Given the description of an element on the screen output the (x, y) to click on. 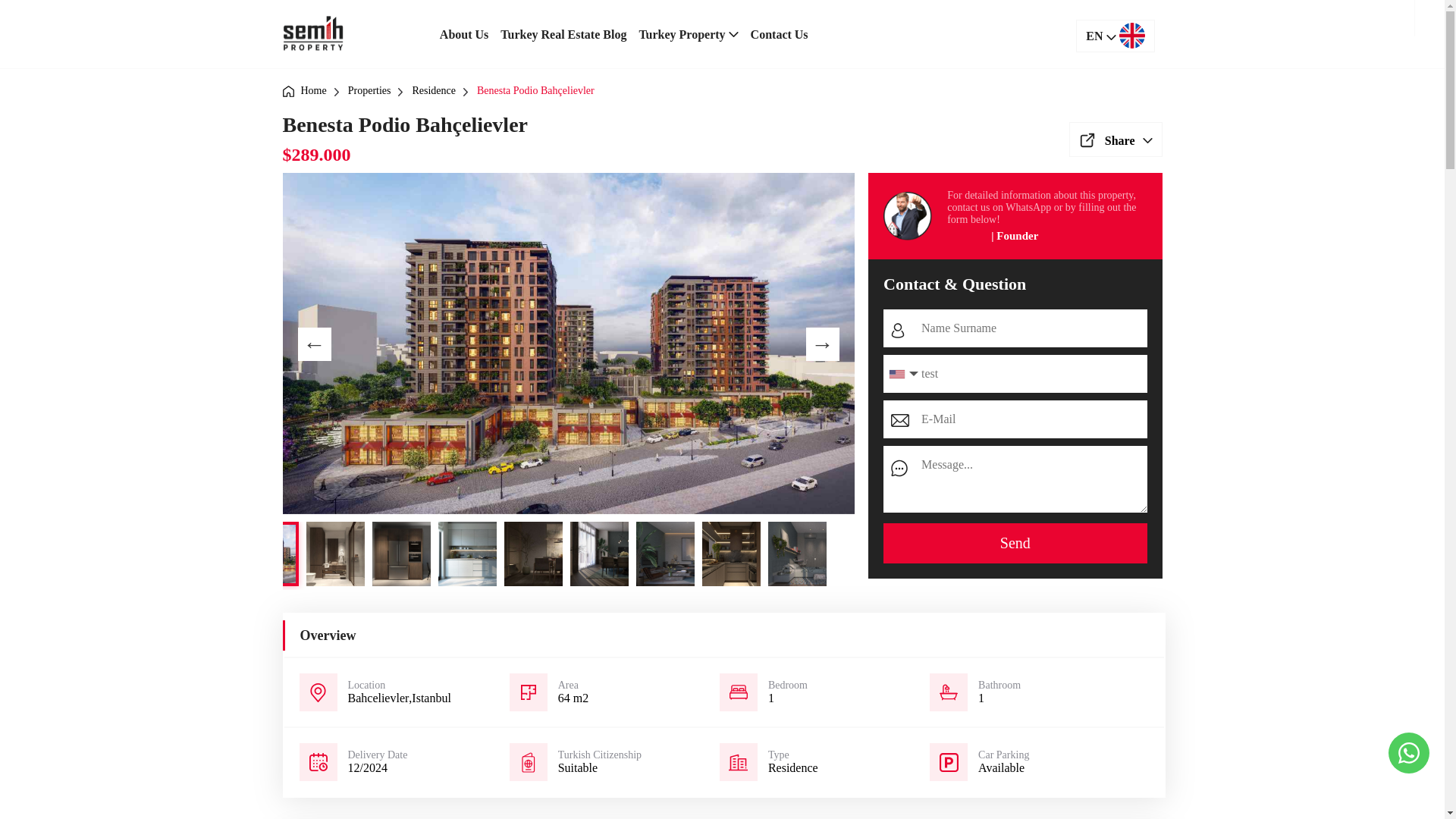
Turkey Real Estate Blog (562, 34)
About Us (464, 34)
Contact Us (779, 34)
EN (1115, 34)
Turkey Property (687, 34)
